Given the description of an element on the screen output the (x, y) to click on. 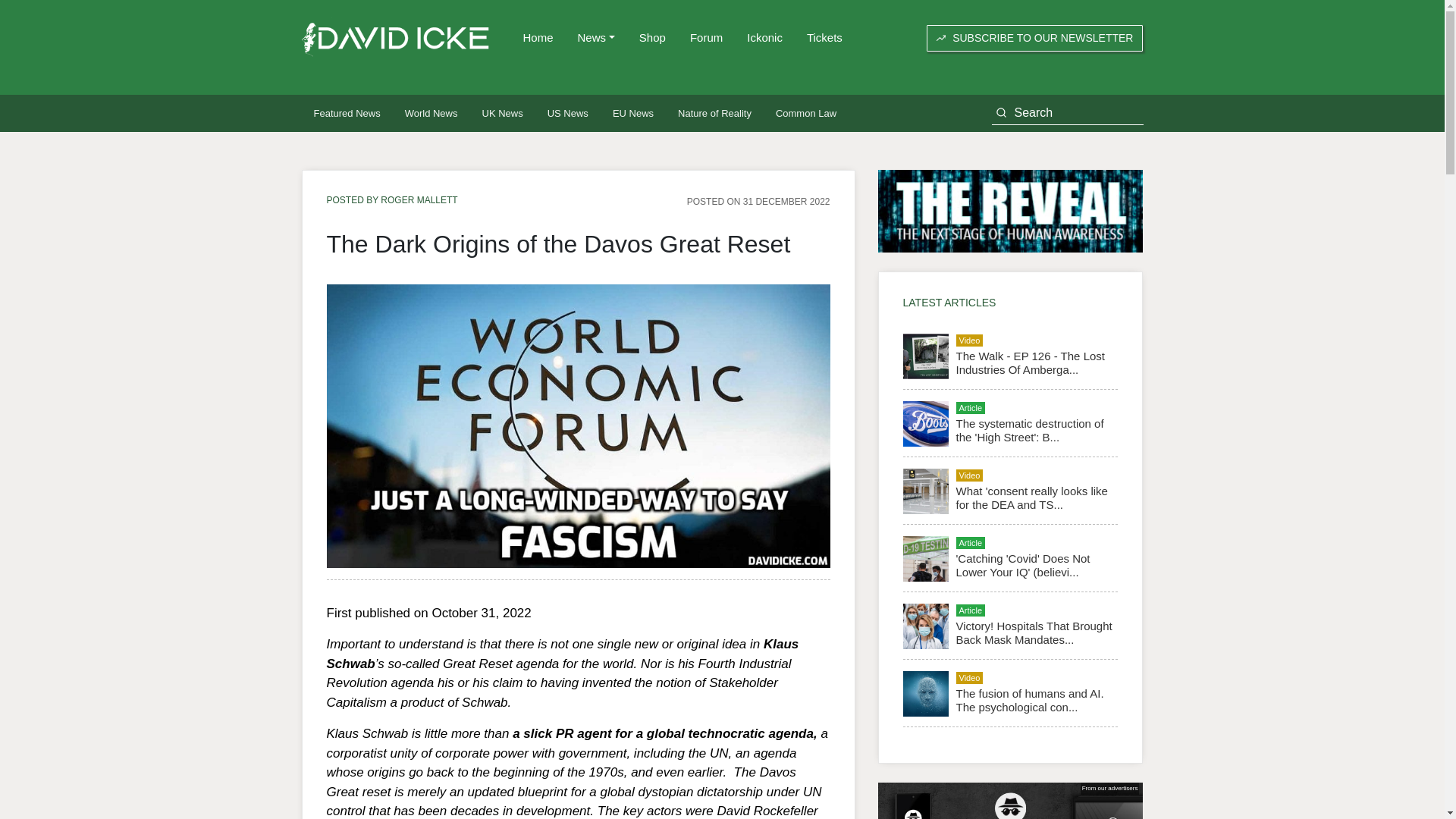
Home (538, 37)
News (596, 37)
Common Law (805, 113)
POSTED ON 31 DECEMBER 2022 (758, 200)
World News (431, 113)
Ickonic (764, 37)
SUBSCRIBE TO OUR NEWSLETTER (1034, 38)
UK News (502, 113)
Forum (706, 37)
EU News (632, 113)
Featured News (347, 113)
US News (567, 113)
